Given the description of an element on the screen output the (x, y) to click on. 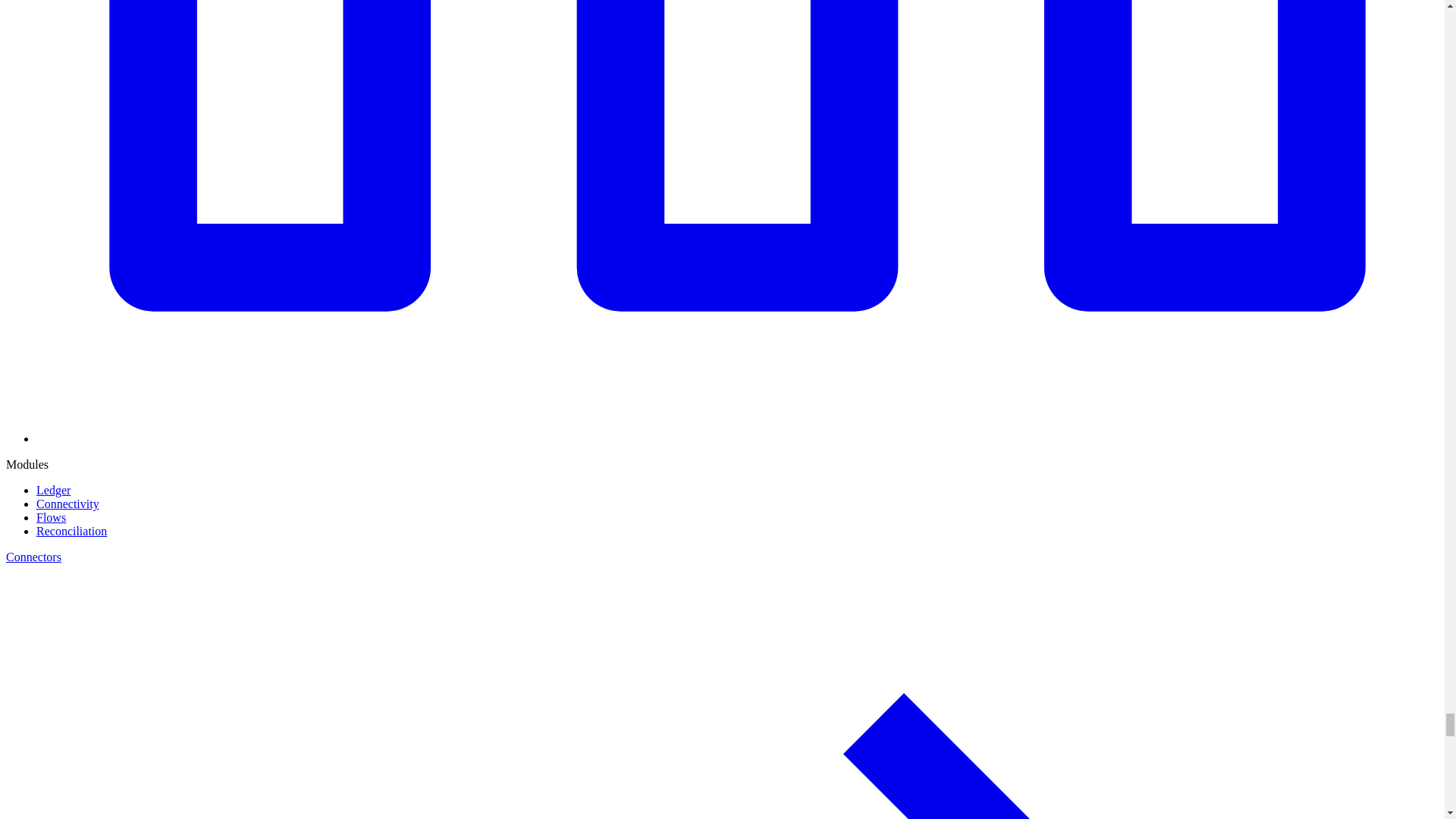
Connectivity (67, 503)
Ledger (52, 490)
